Given the description of an element on the screen output the (x, y) to click on. 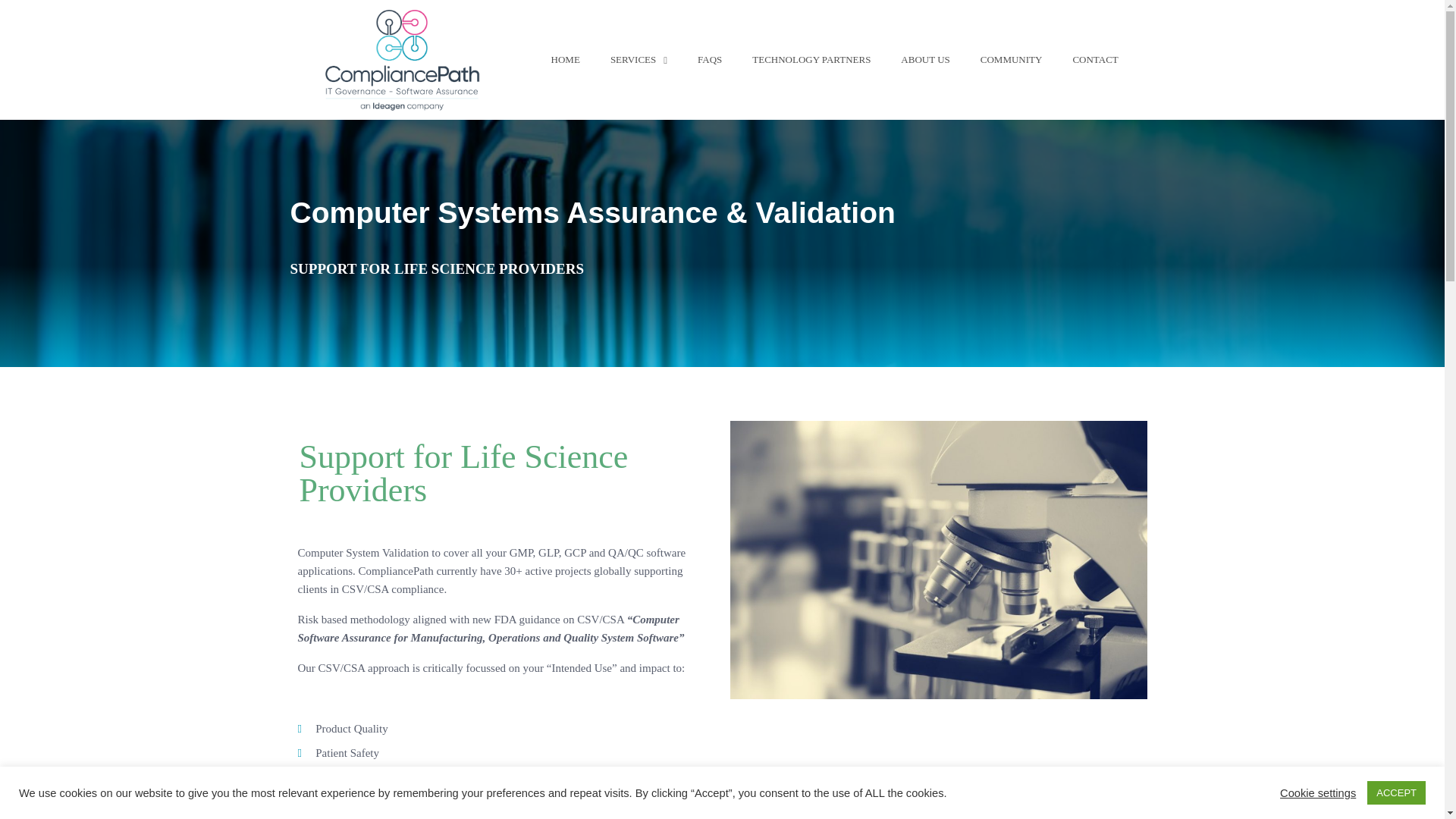
COMMUNITY (1011, 59)
ABOUT US (924, 59)
FAQS (709, 59)
CONTACT (1094, 59)
TECHNOLOGY PARTNERS (810, 59)
SERVICES (638, 59)
HOME (565, 59)
CONTACT (361, 815)
